Given the description of an element on the screen output the (x, y) to click on. 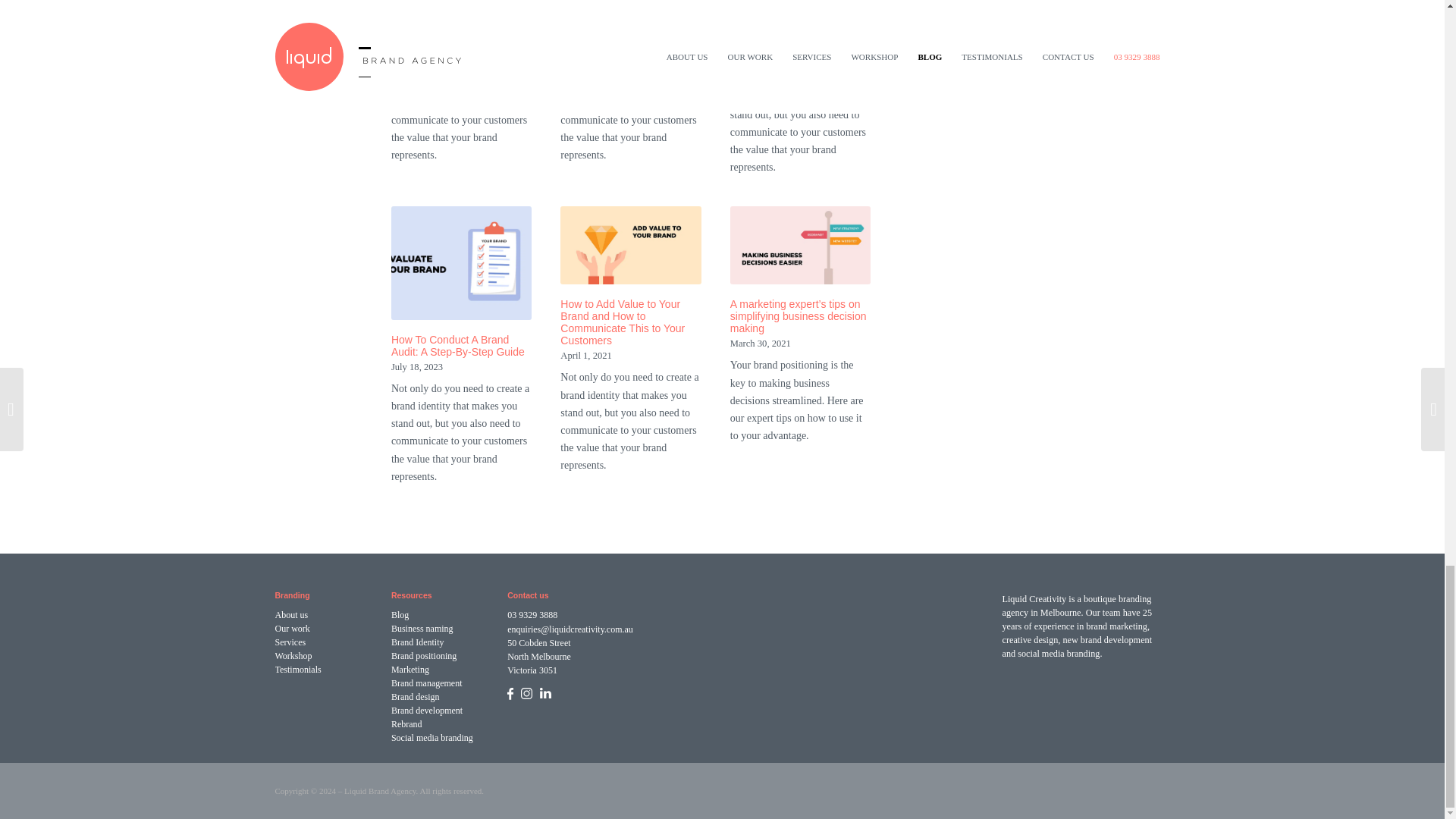
About us (328, 614)
How To Conduct A Brand Audit: A Step-By-Step Guide (457, 345)
How To Create A Memorable Brand Logo: Tips And Tricks (458, 24)
How To Create A Memorable Brand Logo: Tips And Tricks (458, 24)
How To Avoid The Top 10 Brand Naming Mistakes (619, 24)
How To Avoid The Top 10 Brand Naming Mistakes (619, 24)
Services (328, 642)
How To Conduct A Brand Audit: A Step-By-Step Guide (461, 263)
Our work (328, 628)
Workshop (328, 655)
